Given the description of an element on the screen output the (x, y) to click on. 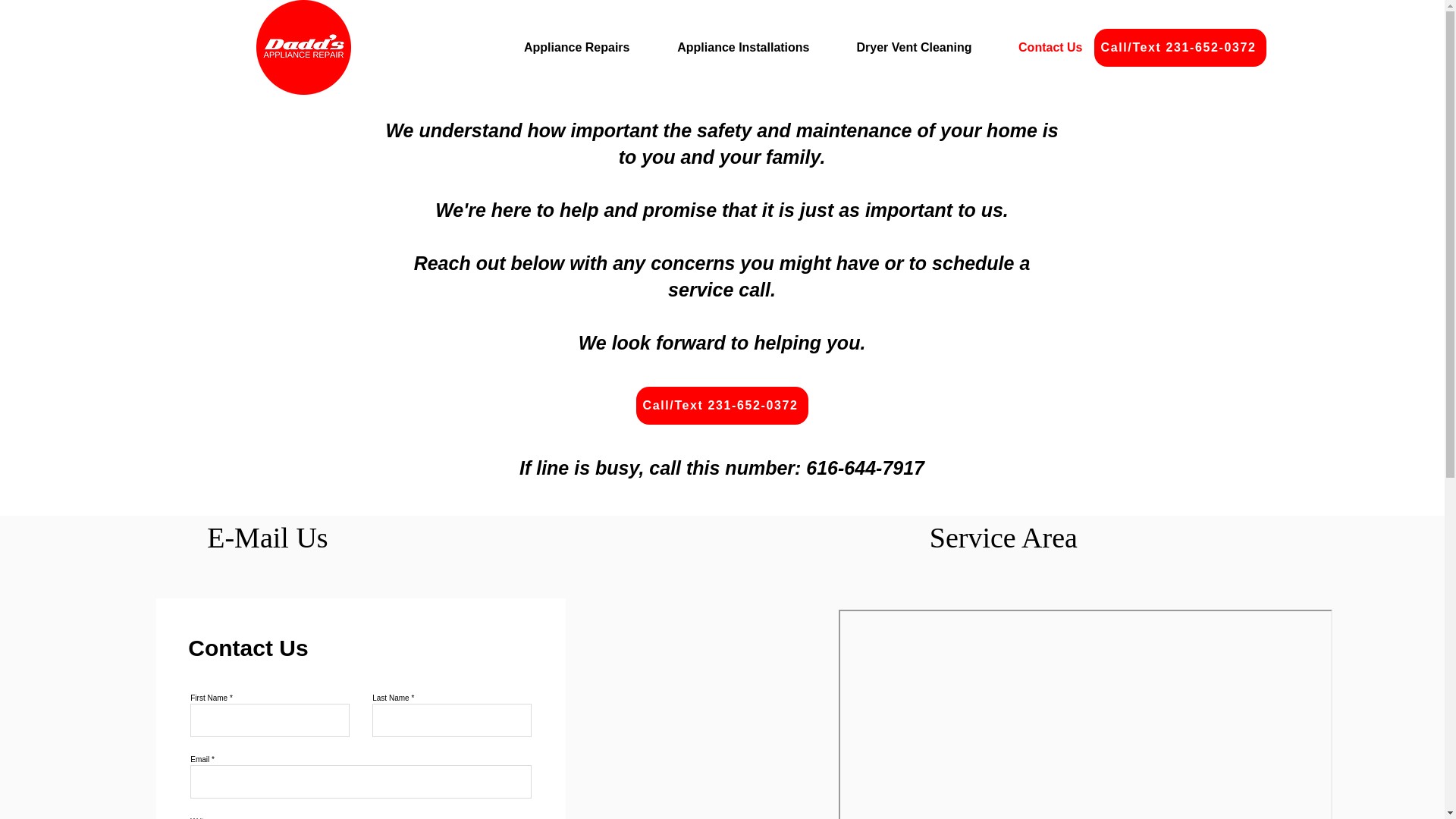
Dryer Vent Cleaning (901, 47)
Appliance Repairs (563, 47)
Embedded Content (1083, 711)
Appliance Installations (731, 47)
Contact Us (1037, 47)
